Given the description of an element on the screen output the (x, y) to click on. 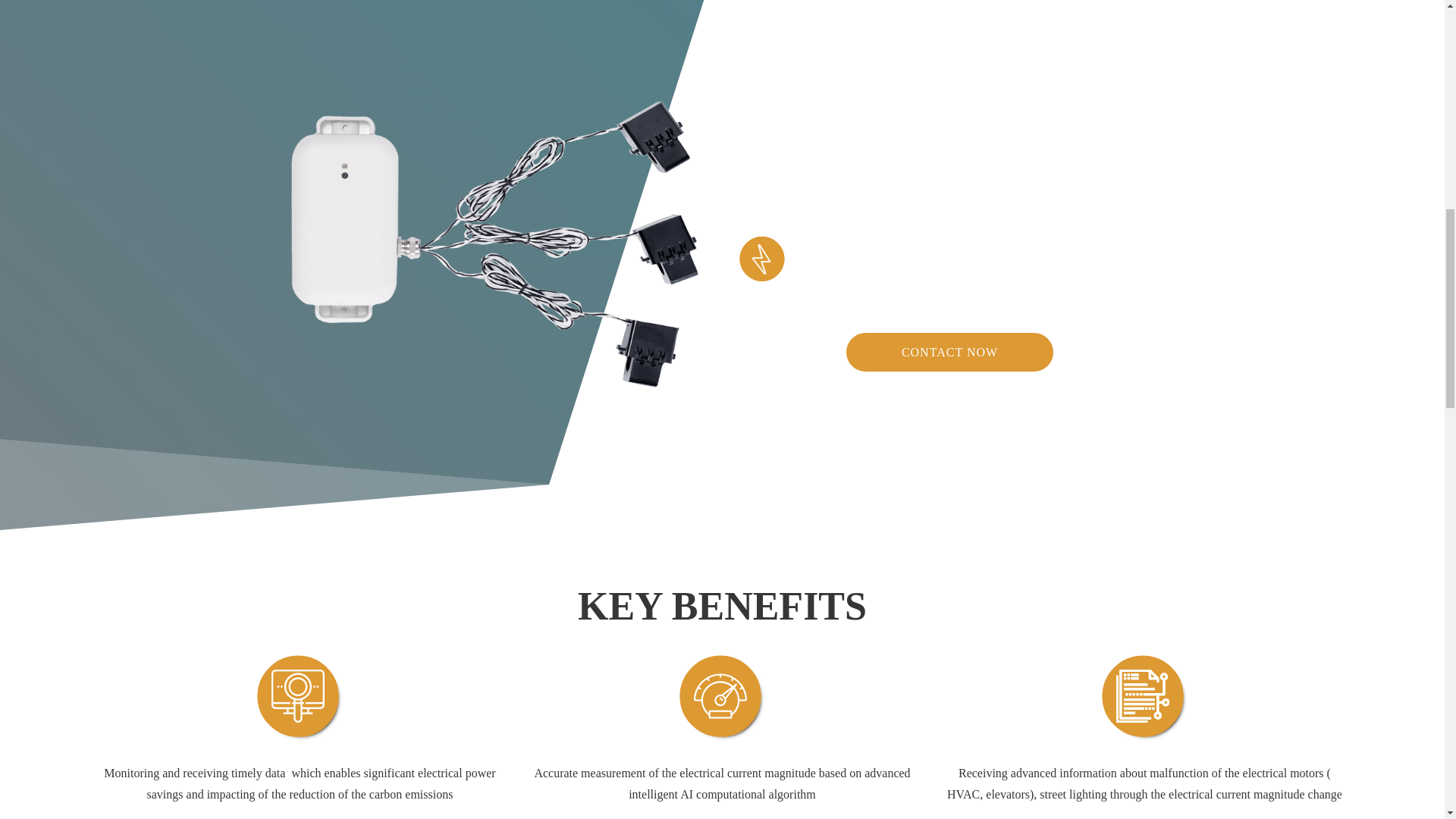
Current (761, 260)
Temperature (828, 260)
Motion (1128, 260)
Humidity (894, 260)
Light (1071, 260)
VOC level (1011, 260)
CO2 (951, 260)
Ampsense (495, 243)
